Given the description of an element on the screen output the (x, y) to click on. 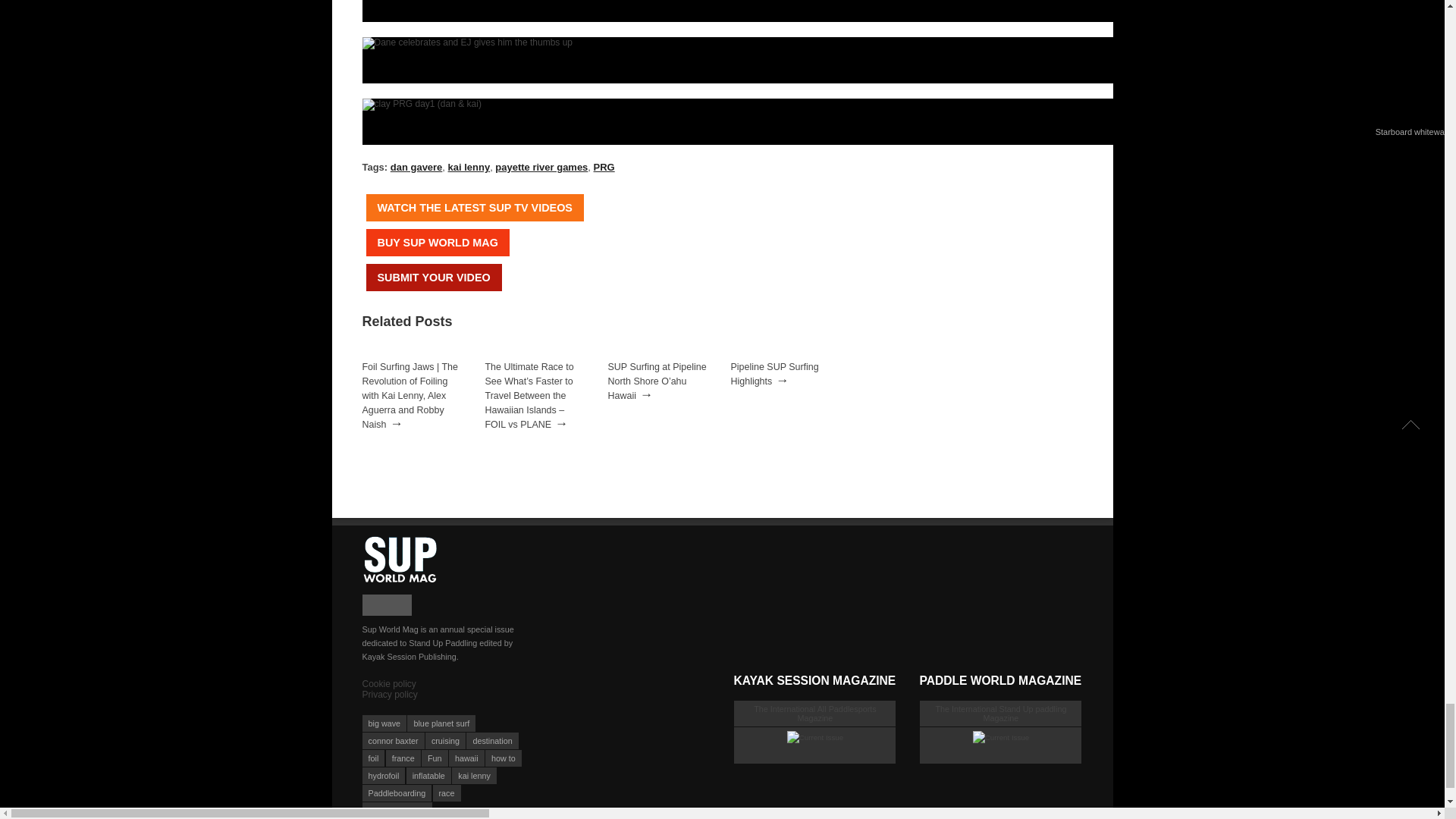
Pipeline SUP Surfing Highlights (774, 373)
Buy Paddle World (436, 242)
dan gavere (416, 166)
Watch the latest SUP TV Videos (474, 207)
Submit your video (432, 277)
